Given the description of an element on the screen output the (x, y) to click on. 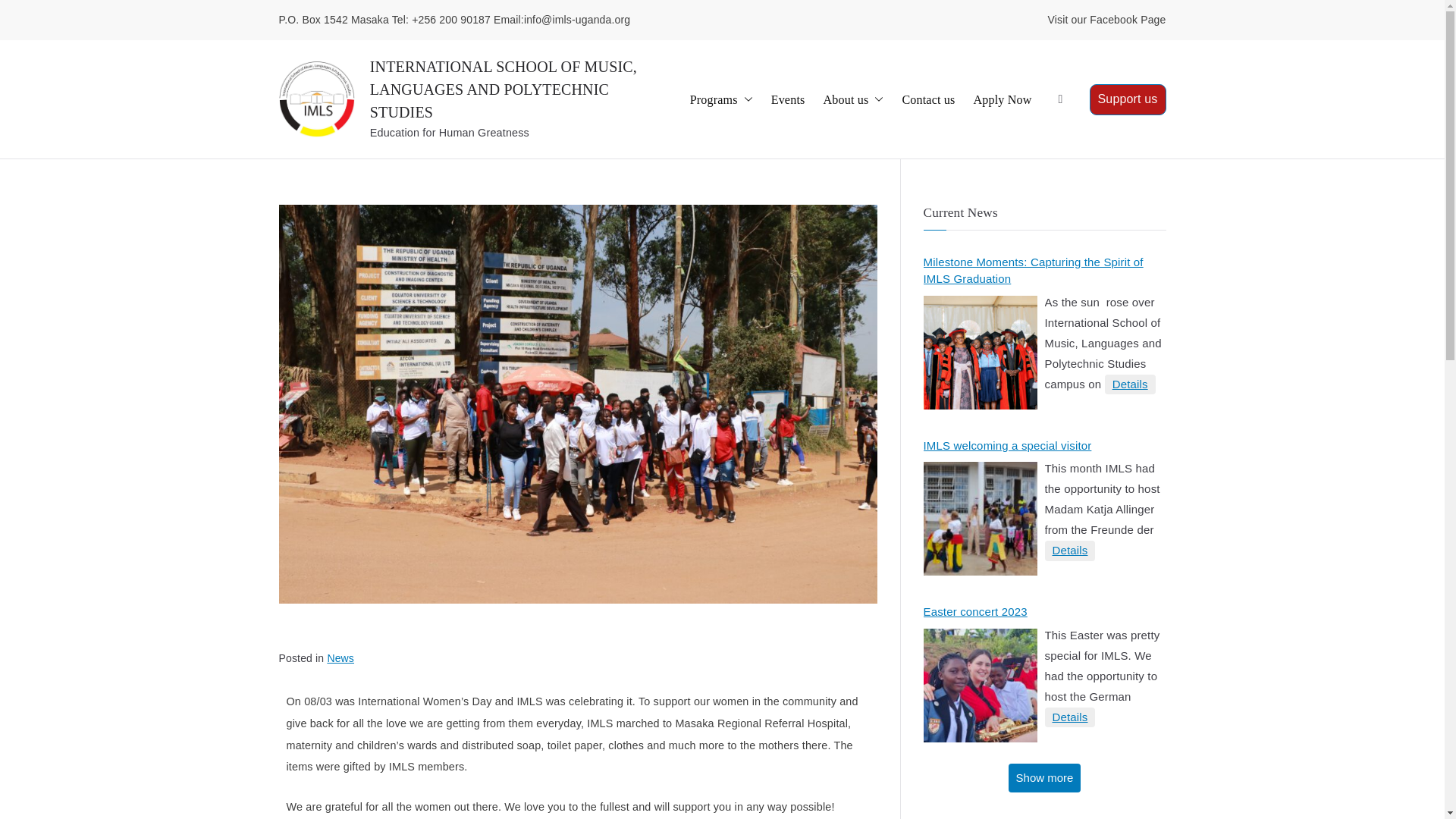
Continue reading IMLS welcoming a special visitor (1070, 550)
About us (852, 99)
Easter concert 2023 (979, 685)
Milestone Moments: Capturing the Spirit of IMLS Graduation (1044, 270)
Support us (1127, 99)
Visit our Facebook Page (1107, 19)
News (339, 657)
Apply Now (1001, 99)
Continue reading Easter concert 2023 (1070, 717)
